Given the description of an element on the screen output the (x, y) to click on. 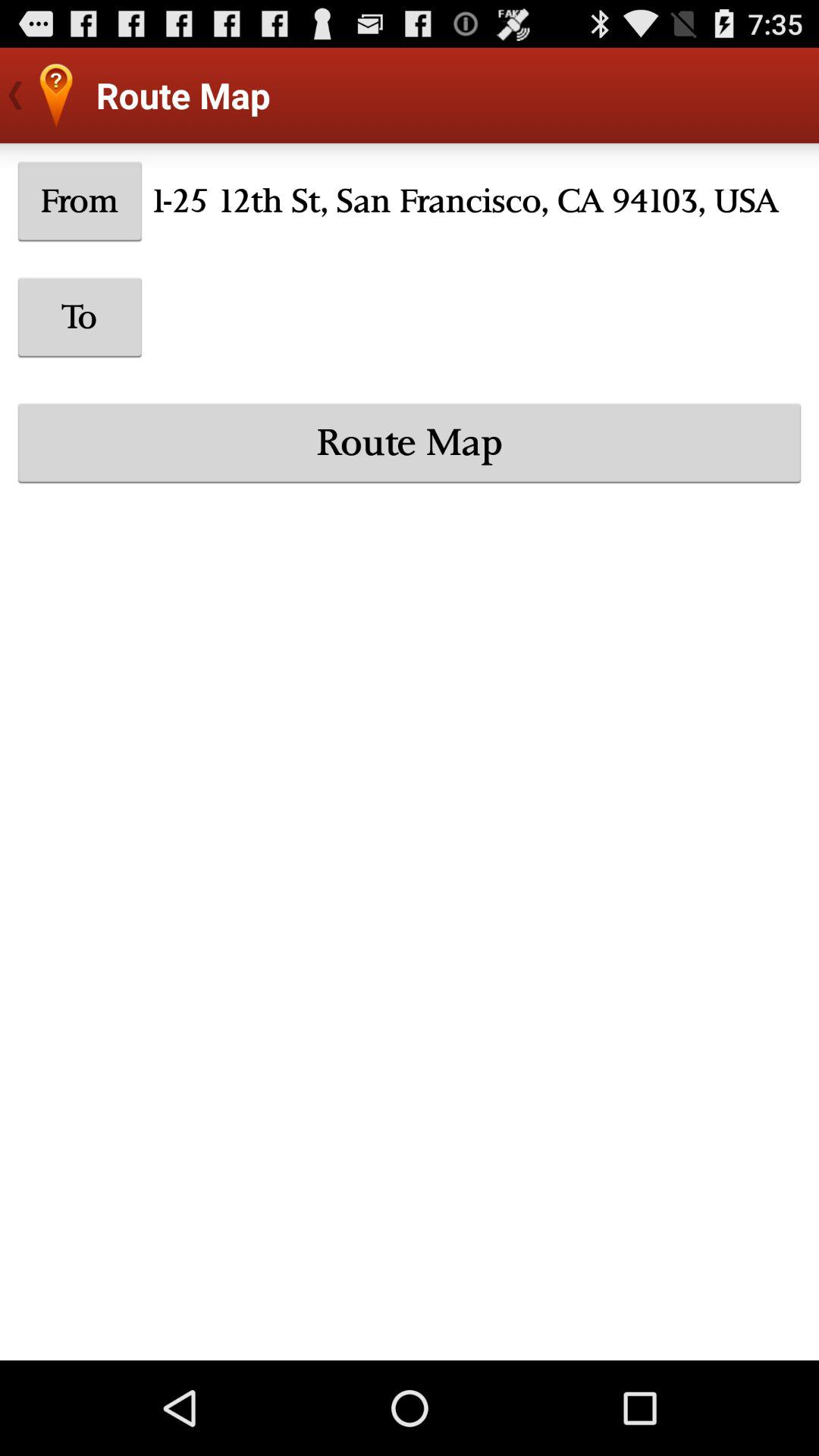
flip until from item (79, 201)
